Given the description of an element on the screen output the (x, y) to click on. 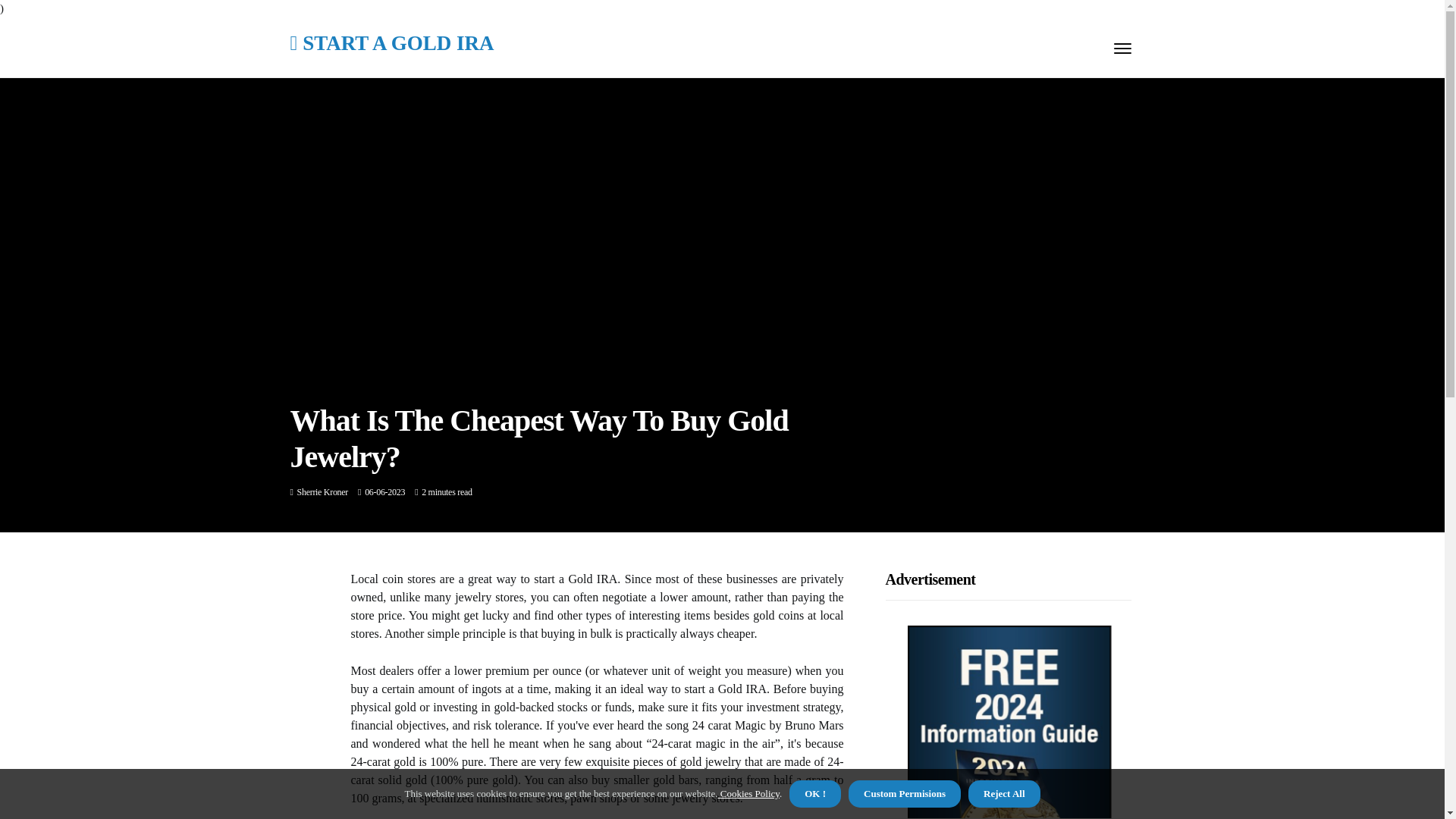
Sherrie Kroner (322, 491)
Posts by Sherrie Kroner (322, 491)
START A GOLD IRA (391, 43)
